Given the description of an element on the screen output the (x, y) to click on. 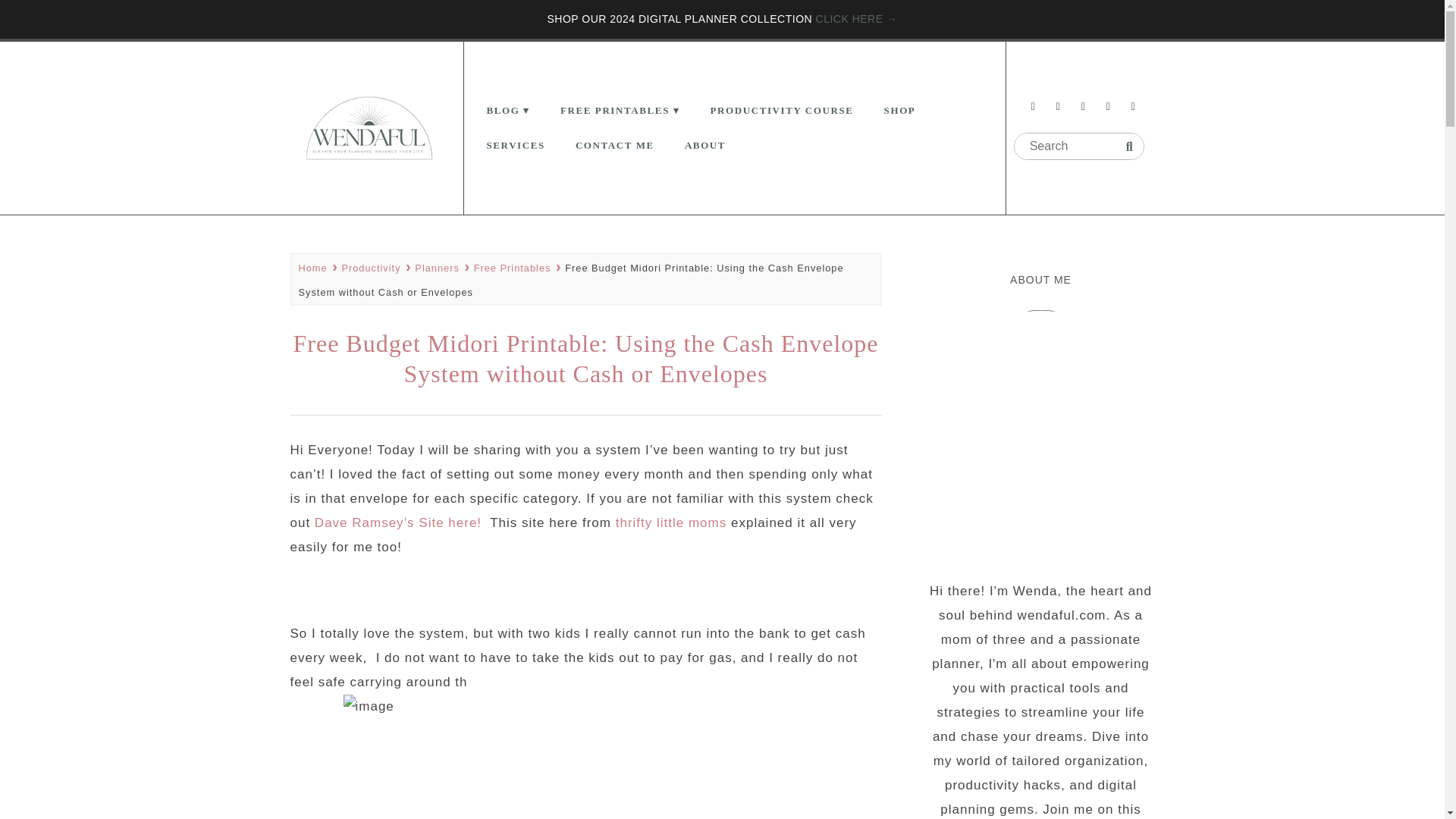
Home (317, 267)
thrifty little moms (670, 522)
SHOP (900, 110)
Free Printables (518, 267)
CONTACT ME (614, 144)
FREE PRINTABLES (619, 110)
Planners (442, 267)
ABOUT (705, 144)
